Given the description of an element on the screen output the (x, y) to click on. 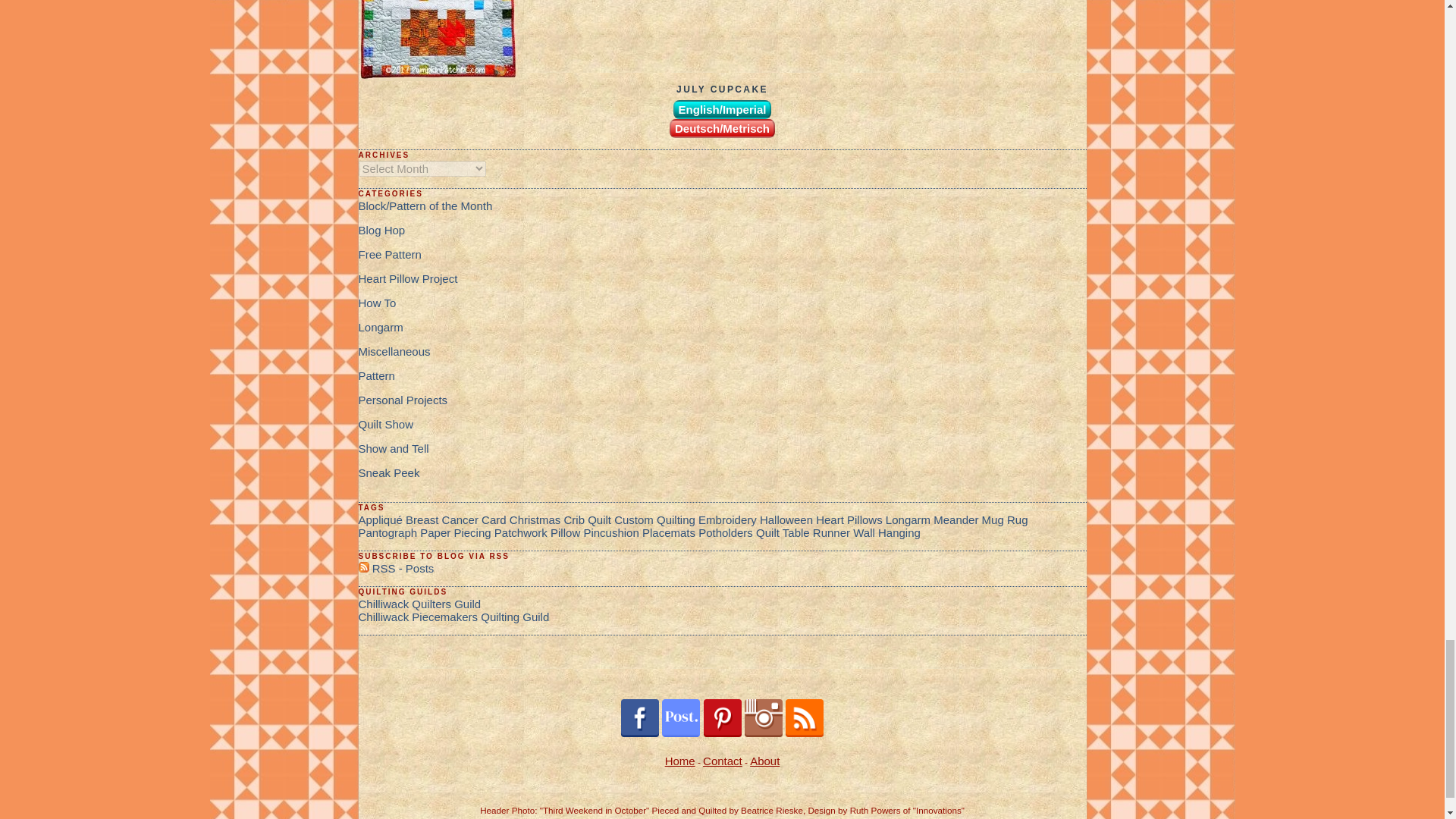
Subscribe to posts (395, 567)
